Given the description of an element on the screen output the (x, y) to click on. 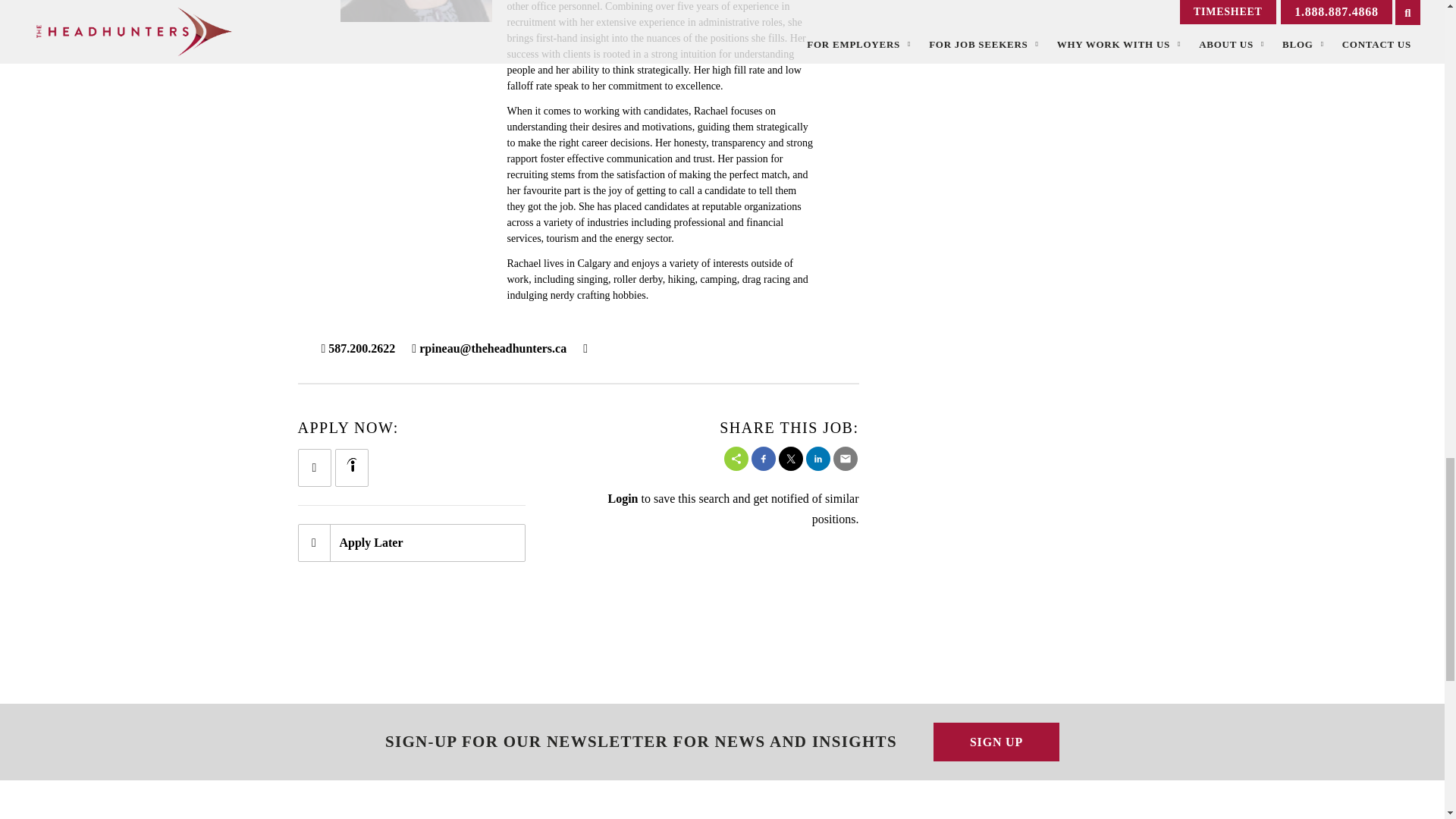
social Sharethis (735, 458)
Indeed (350, 464)
social Linkedin (817, 458)
social Twitter (789, 458)
social Facebook (762, 458)
social Email (844, 458)
click to email (488, 348)
